Given the description of an element on the screen output the (x, y) to click on. 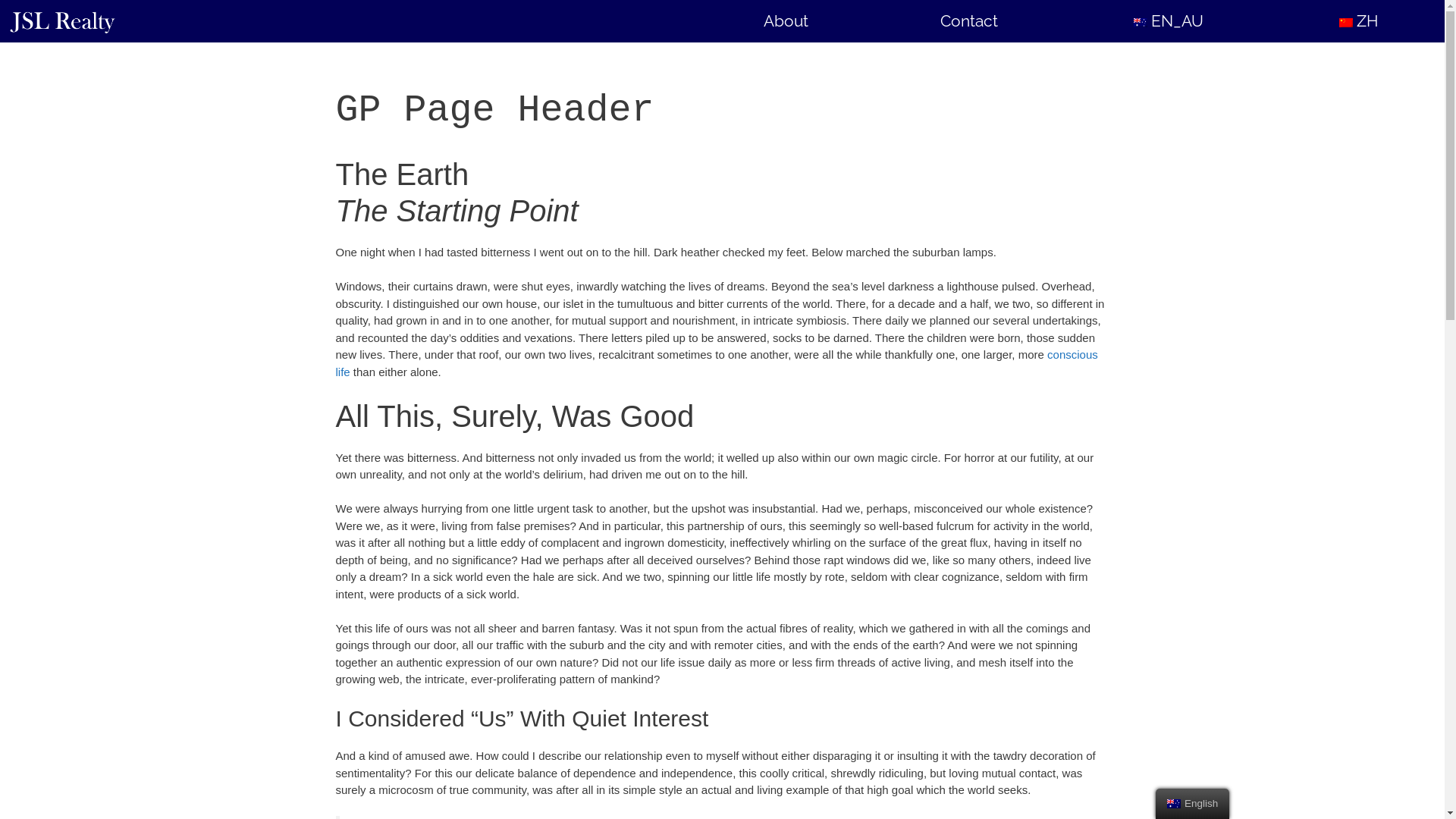
JSL Realty Element type: hover (61, 21)
Chinese Element type: hover (1345, 22)
ZH Element type: text (1356, 21)
English Element type: hover (1140, 22)
conscious life Element type: text (716, 363)
Skip to content Element type: text (0, 0)
English Element type: hover (1173, 803)
JSL Realty Element type: hover (65, 21)
About Element type: text (785, 21)
Contact Element type: text (968, 21)
EN_AU Element type: text (1166, 21)
